Given the description of an element on the screen output the (x, y) to click on. 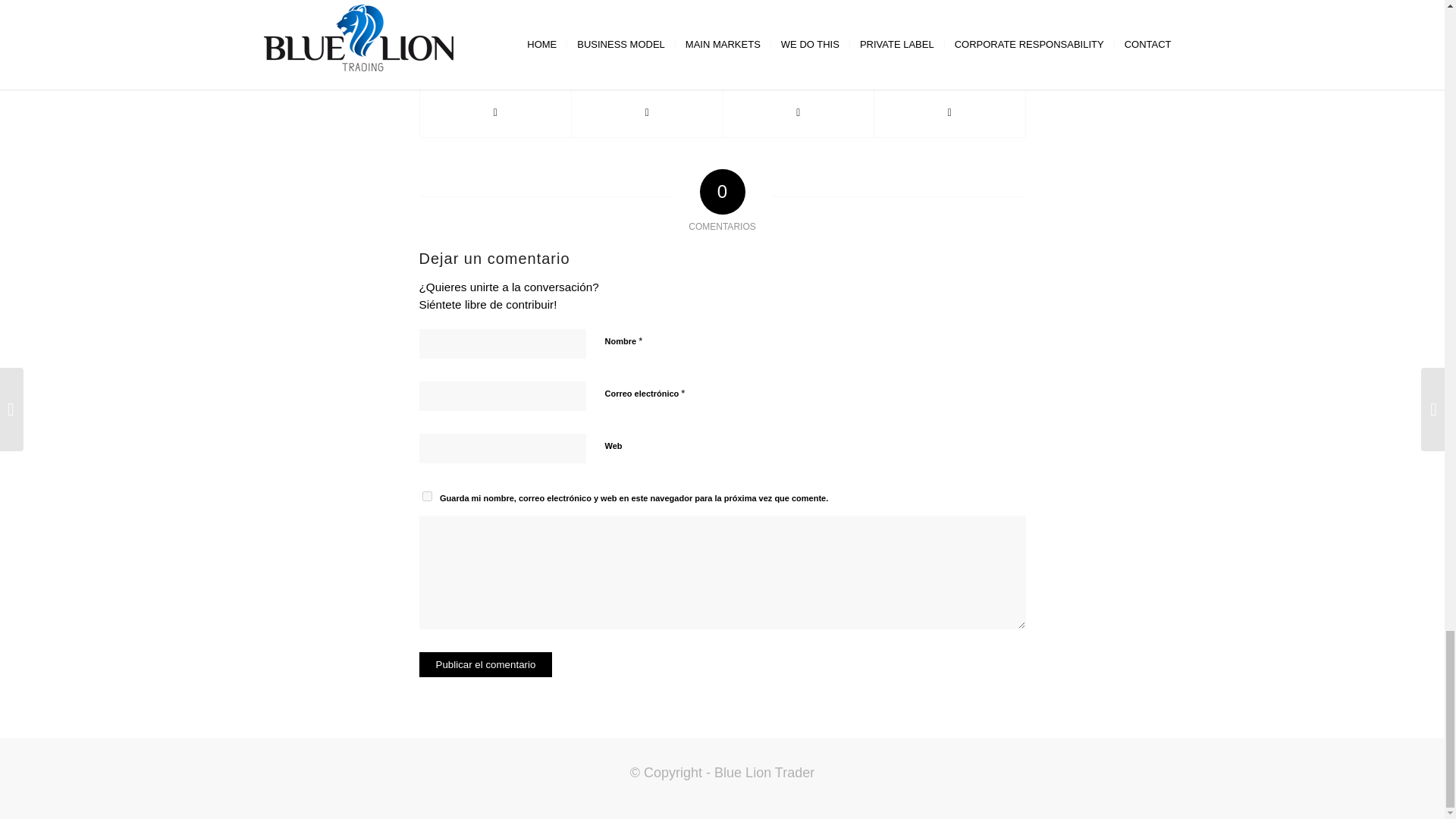
Publicar el comentario (485, 664)
MAXI (829, 7)
0 COMENTARIOS (714, 7)
Publicar el comentario (485, 664)
Entradas de maxi (829, 7)
yes (426, 496)
